Given the description of an element on the screen output the (x, y) to click on. 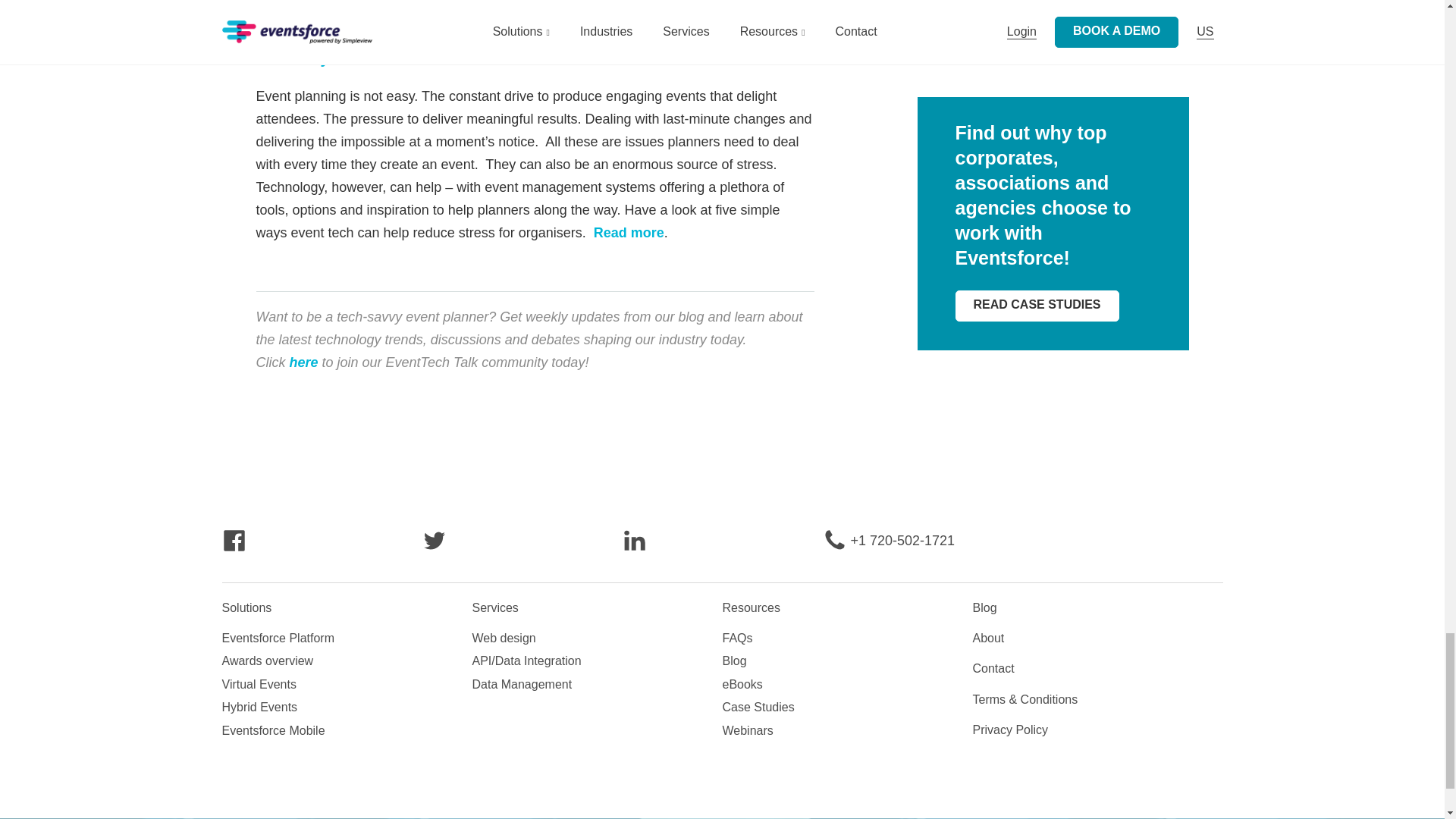
Twitter (433, 548)
Linkedin (633, 548)
Facebook (233, 548)
